Given the description of an element on the screen output the (x, y) to click on. 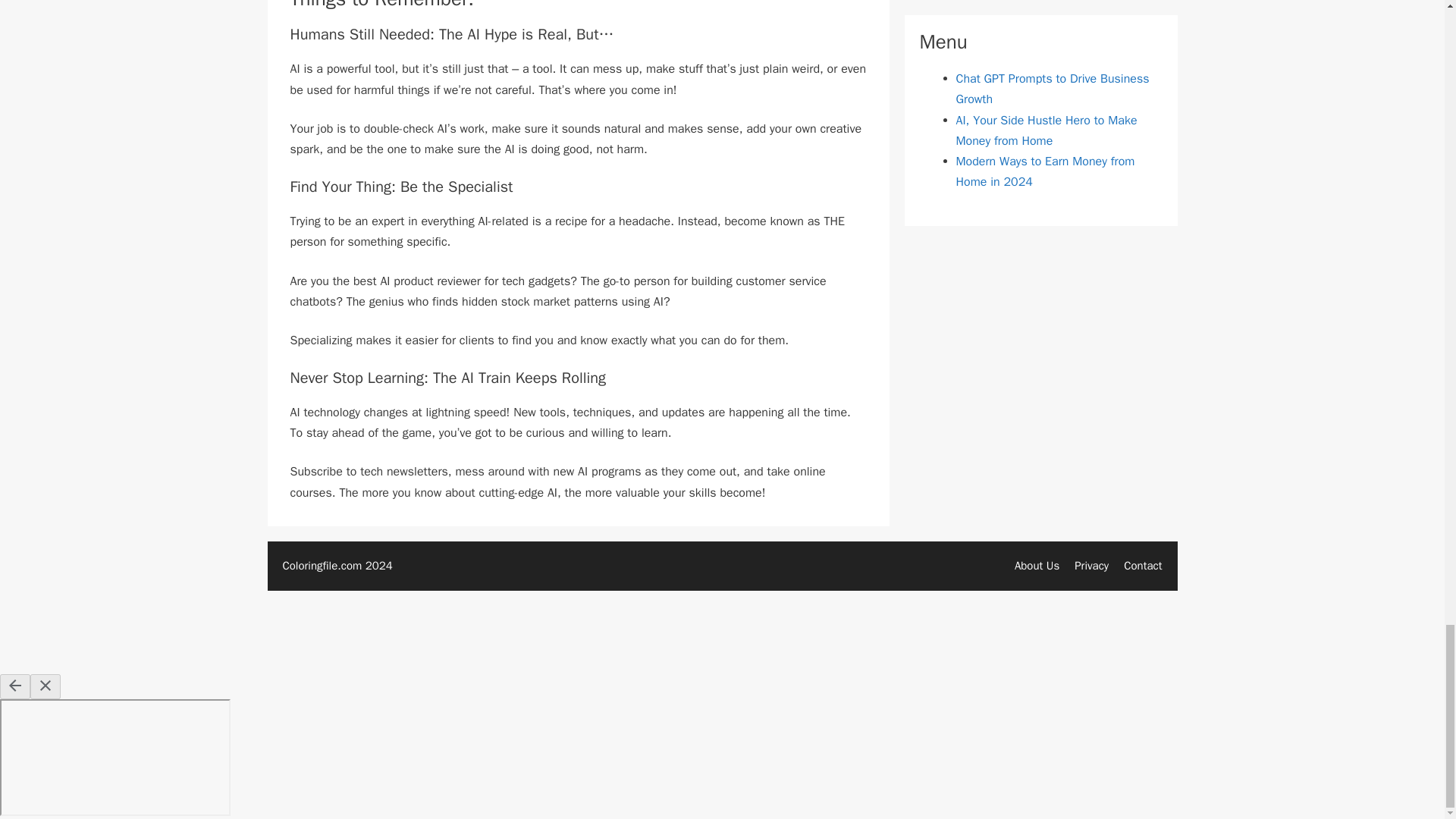
Privacy (1091, 565)
Contact (1142, 565)
About Us (1036, 565)
